Given the description of an element on the screen output the (x, y) to click on. 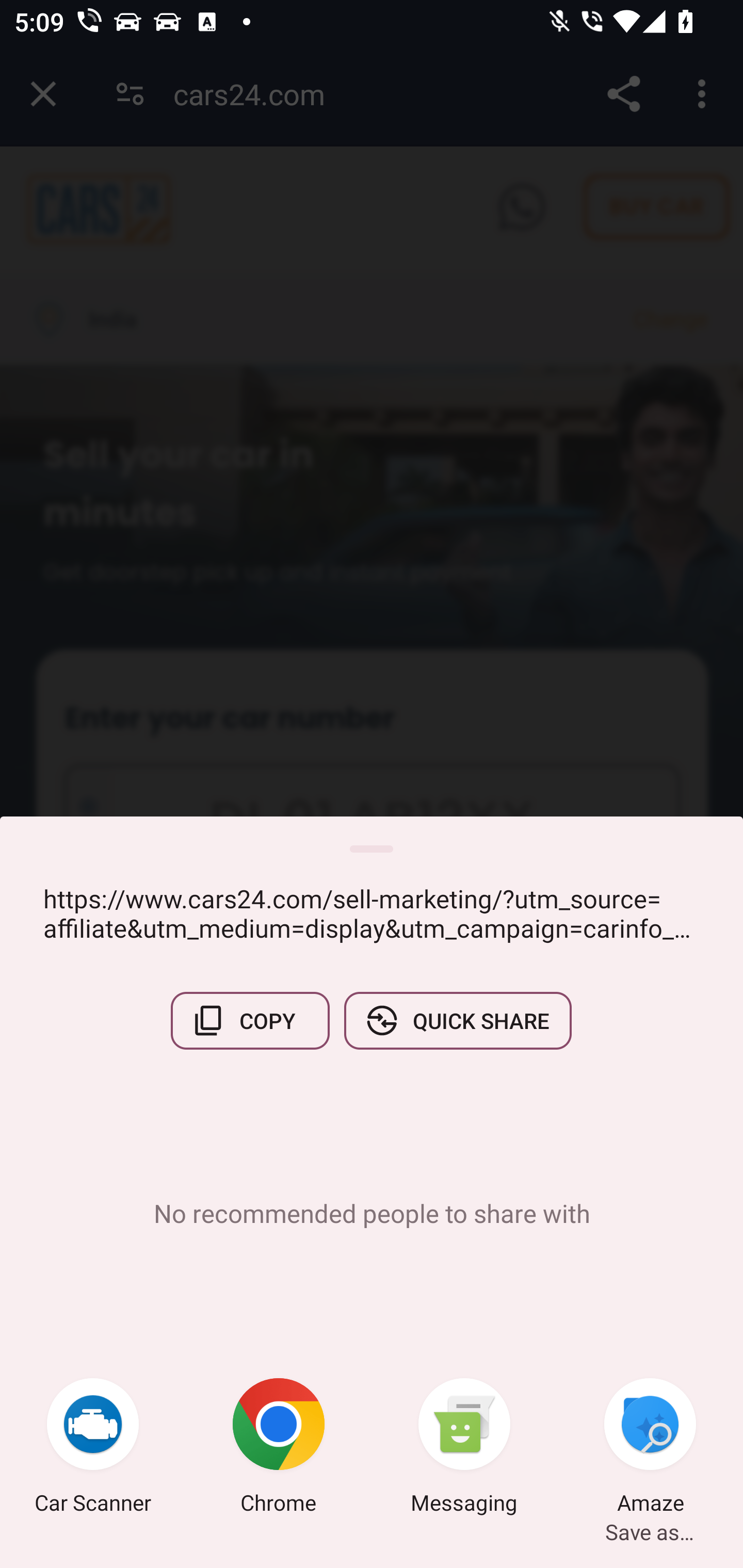
COPY (249, 1020)
QUICK SHARE (457, 1020)
Car Scanner (92, 1448)
Chrome (278, 1448)
Messaging (464, 1448)
Amaze Save as… (650, 1448)
